Given the description of an element on the screen output the (x, y) to click on. 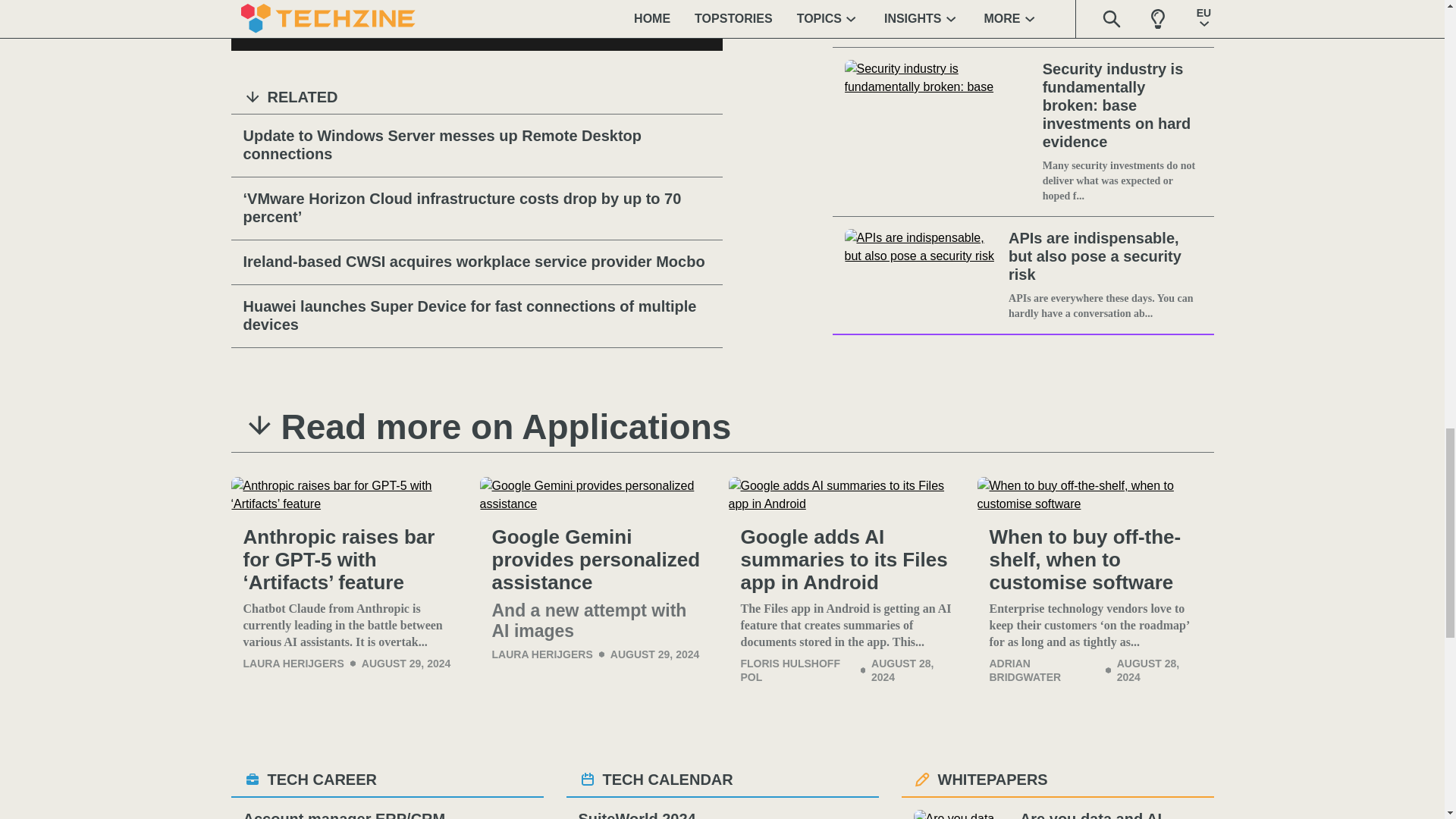
APIs are indispensable, but also pose a security risk (923, 275)
Google Gemini provides personalized assistance (597, 494)
Ireland-based CWSI acquires workplace service provider Mocbo (476, 261)
84623970802861205 (251, 27)
Google Gemini provides personalized assistance (597, 559)
APIs are indispensable, but also pose a security risk (1105, 257)
